Given the description of an element on the screen output the (x, y) to click on. 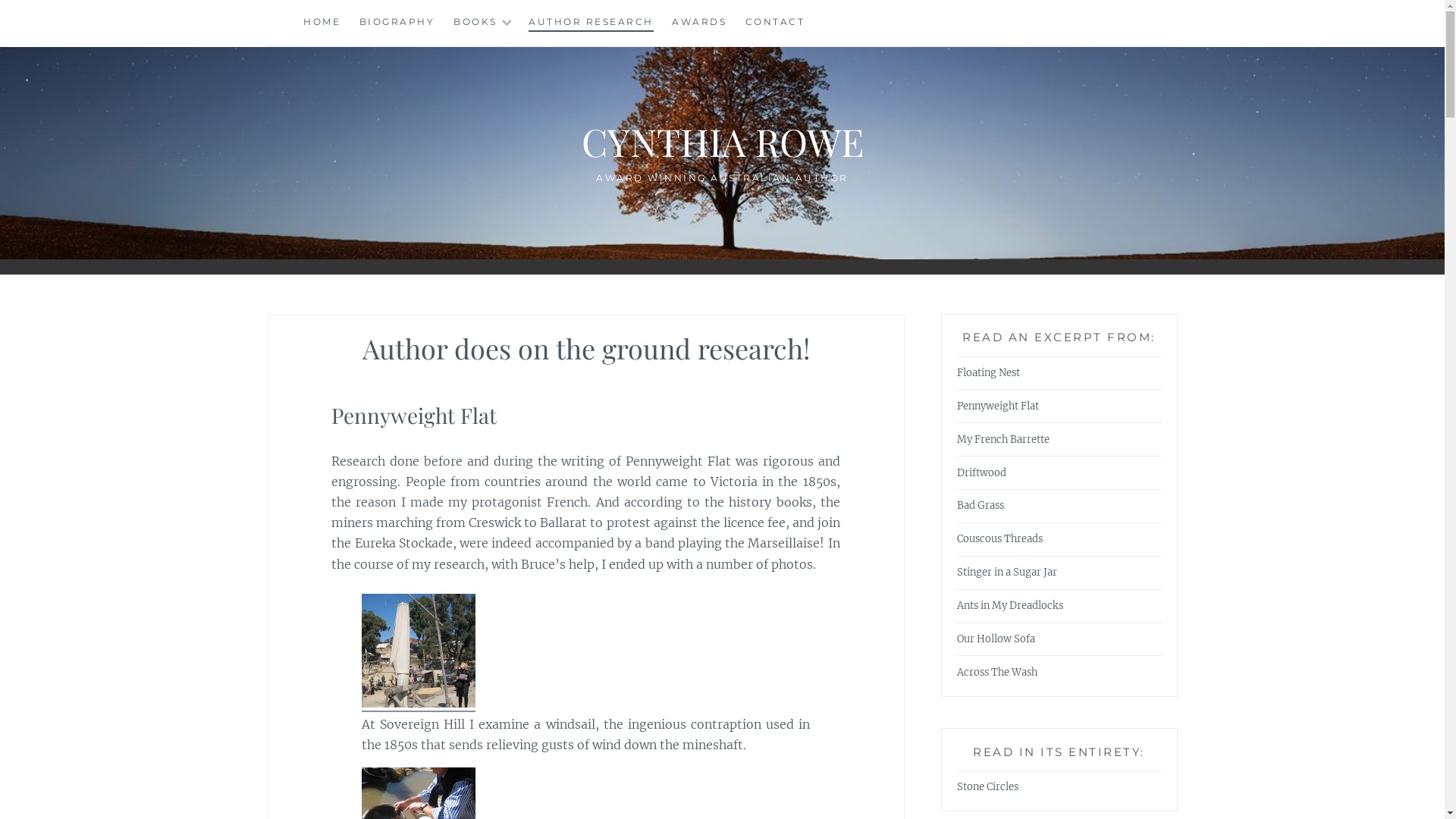
Ants in My Dreadlocks Element type: text (1010, 606)
Floating Nest Element type: text (988, 373)
Pennyweight Flat Element type: text (997, 406)
Our Hollow Sofa Element type: text (996, 639)
Stone Circles Element type: text (987, 787)
Stinger in a Sugar Jar Element type: text (1007, 572)
CYNTHIA ROWE Element type: text (721, 141)
Bad Grass Element type: text (980, 505)
Driftwood Element type: text (981, 473)
My French Barrette Element type: text (1003, 440)
BOOKS Element type: text (475, 22)
Couscous Threads Element type: text (999, 539)
BIOGRAPHY Element type: text (397, 22)
Across The Wash Element type: text (997, 672)
HOME Element type: text (321, 22)
AUTHOR RESEARCH Element type: text (590, 22)
CONTACT Element type: text (775, 22)
AWARDS Element type: text (698, 22)
